Given the description of an element on the screen output the (x, y) to click on. 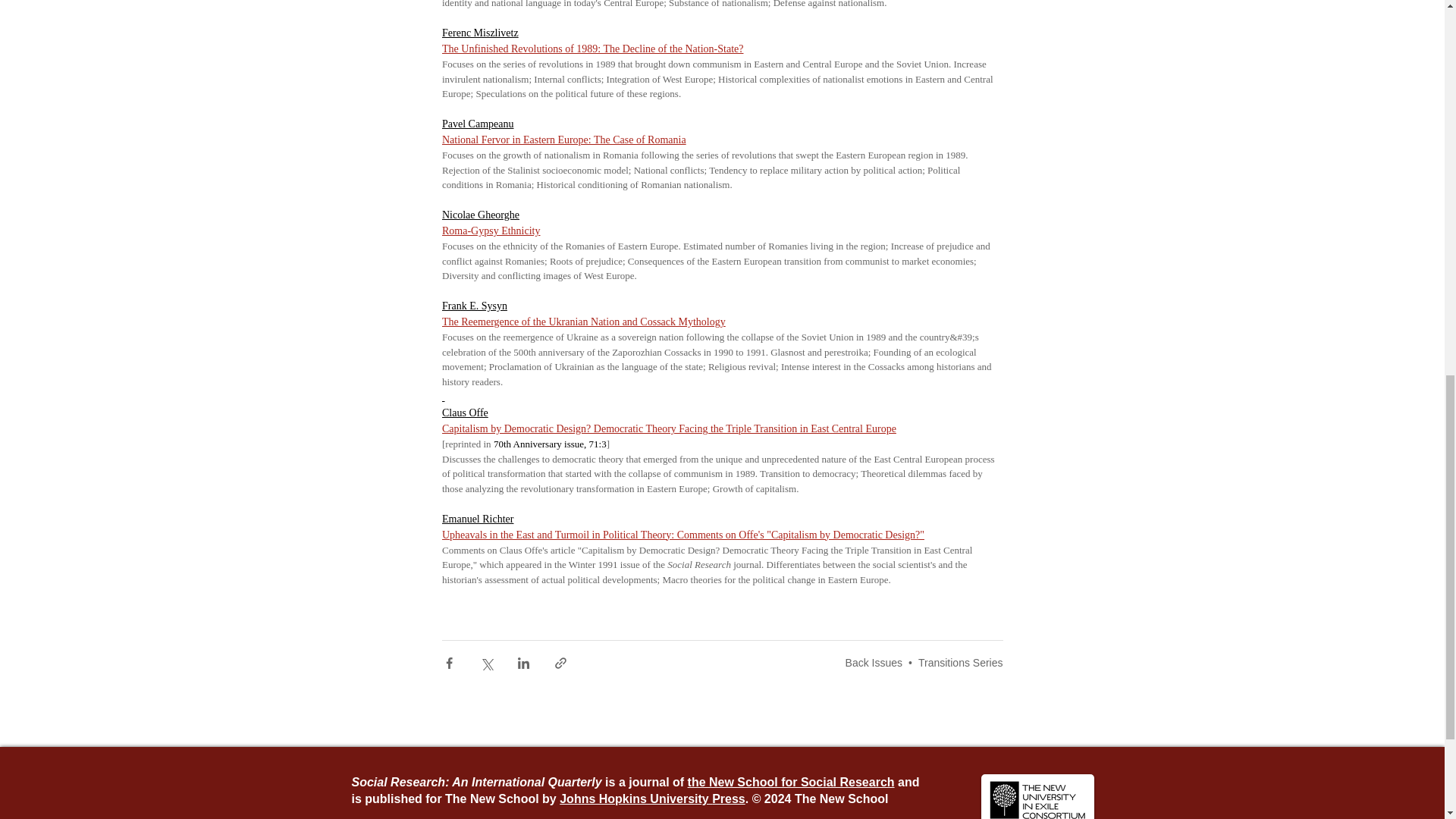
70th Anniversary issue, 71:3 (549, 443)
Pavel Campeanu (476, 123)
Nicolae Gheorghe (479, 214)
Frank E. Sysyn (473, 306)
Ferenc Miszlivetz (479, 32)
Roma-Gypsy Ethnicity (490, 230)
National Fervor in Eastern Europe: The Case of Romania (563, 139)
The Reemergence of the Ukranian Nation and Cossack Mythology (583, 321)
Claus Offe (464, 412)
